Given the description of an element on the screen output the (x, y) to click on. 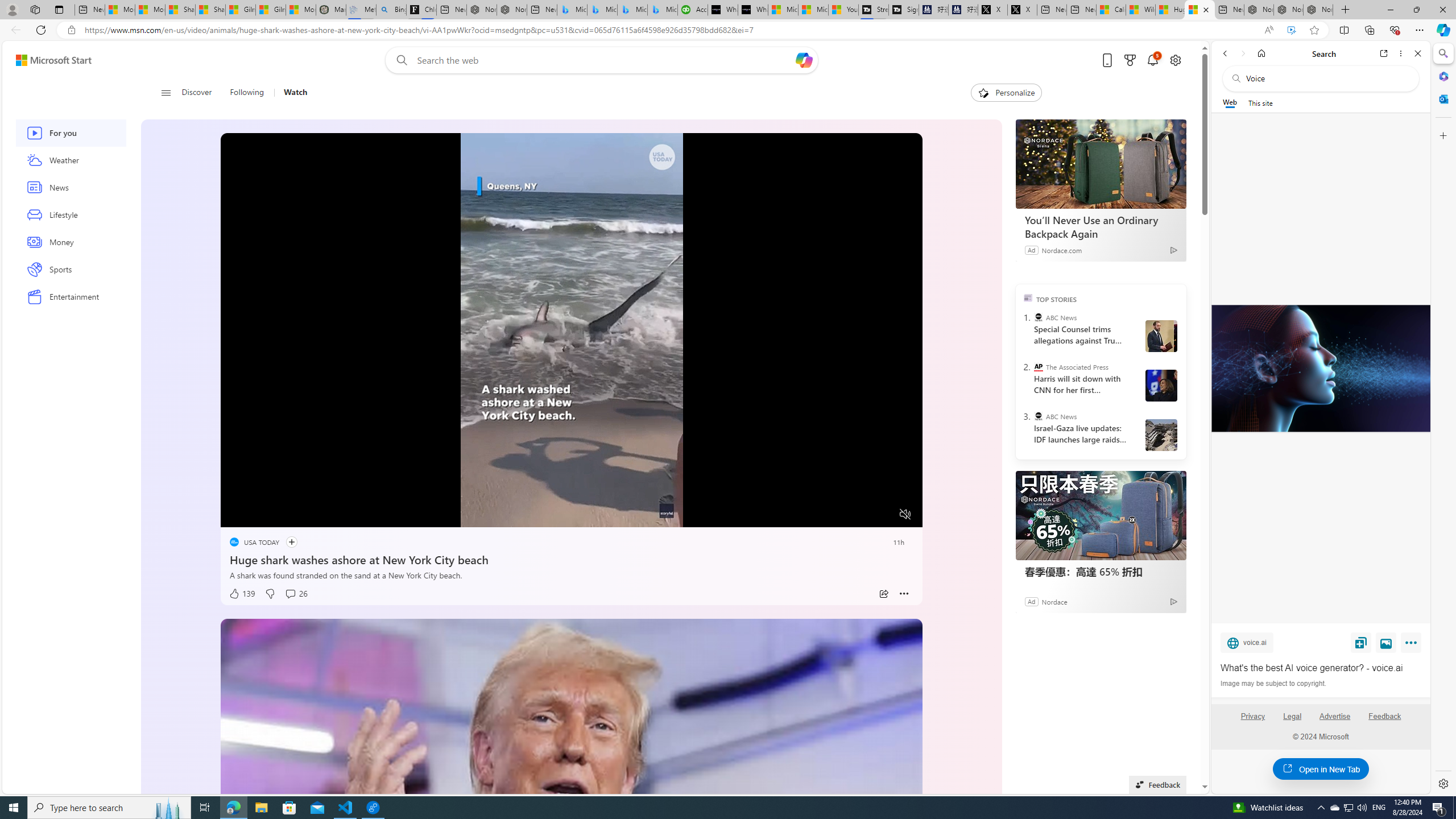
Gilma and Hector both pose tropical trouble for Hawaii (270, 9)
View image (1385, 642)
Advertise (1335, 715)
Accounting Software for Accountants, CPAs and Bookkeepers (691, 9)
